Given the description of an element on the screen output the (x, y) to click on. 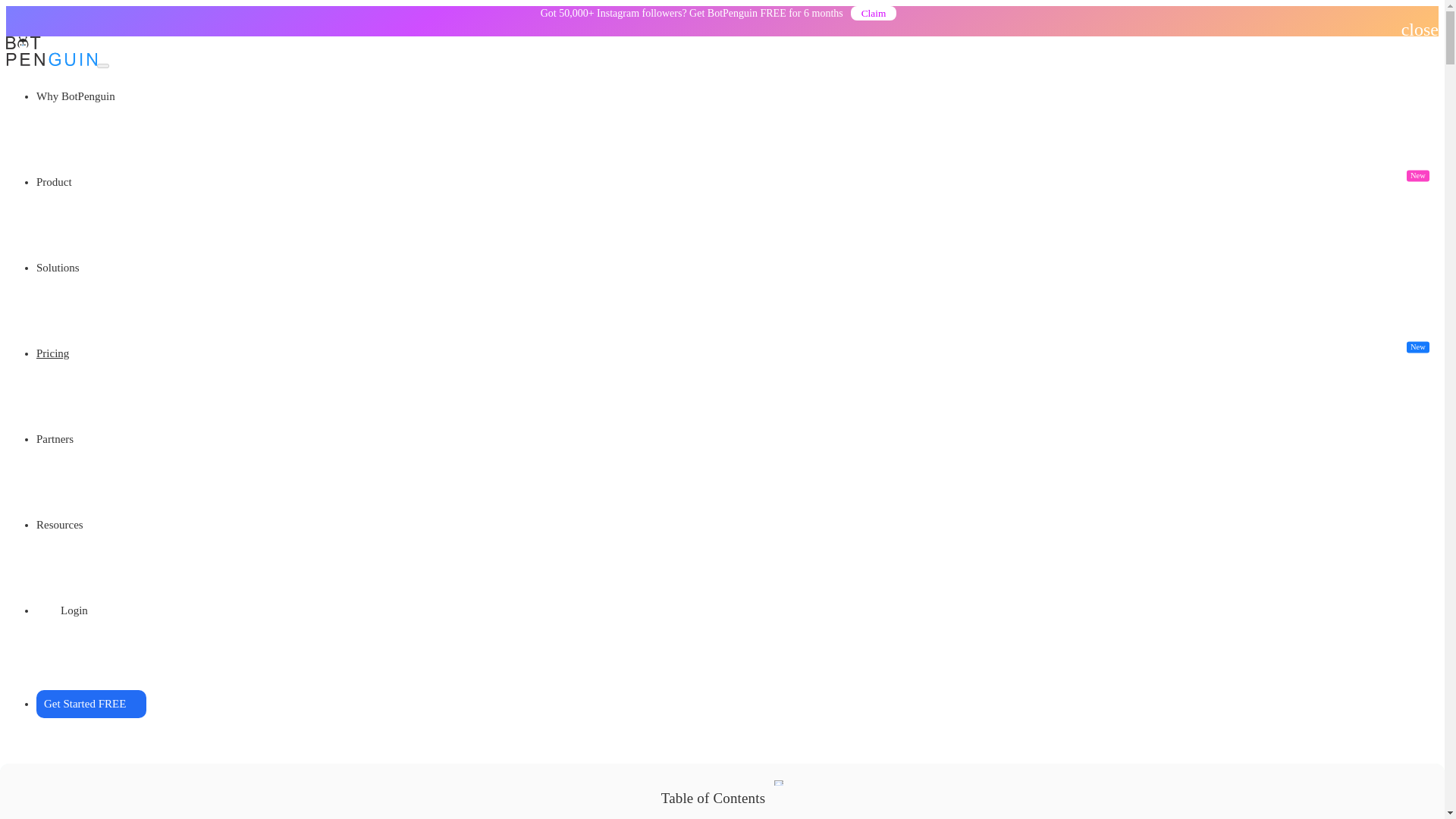
Home (50, 119)
Blogs (874, 13)
